Given the description of an element on the screen output the (x, y) to click on. 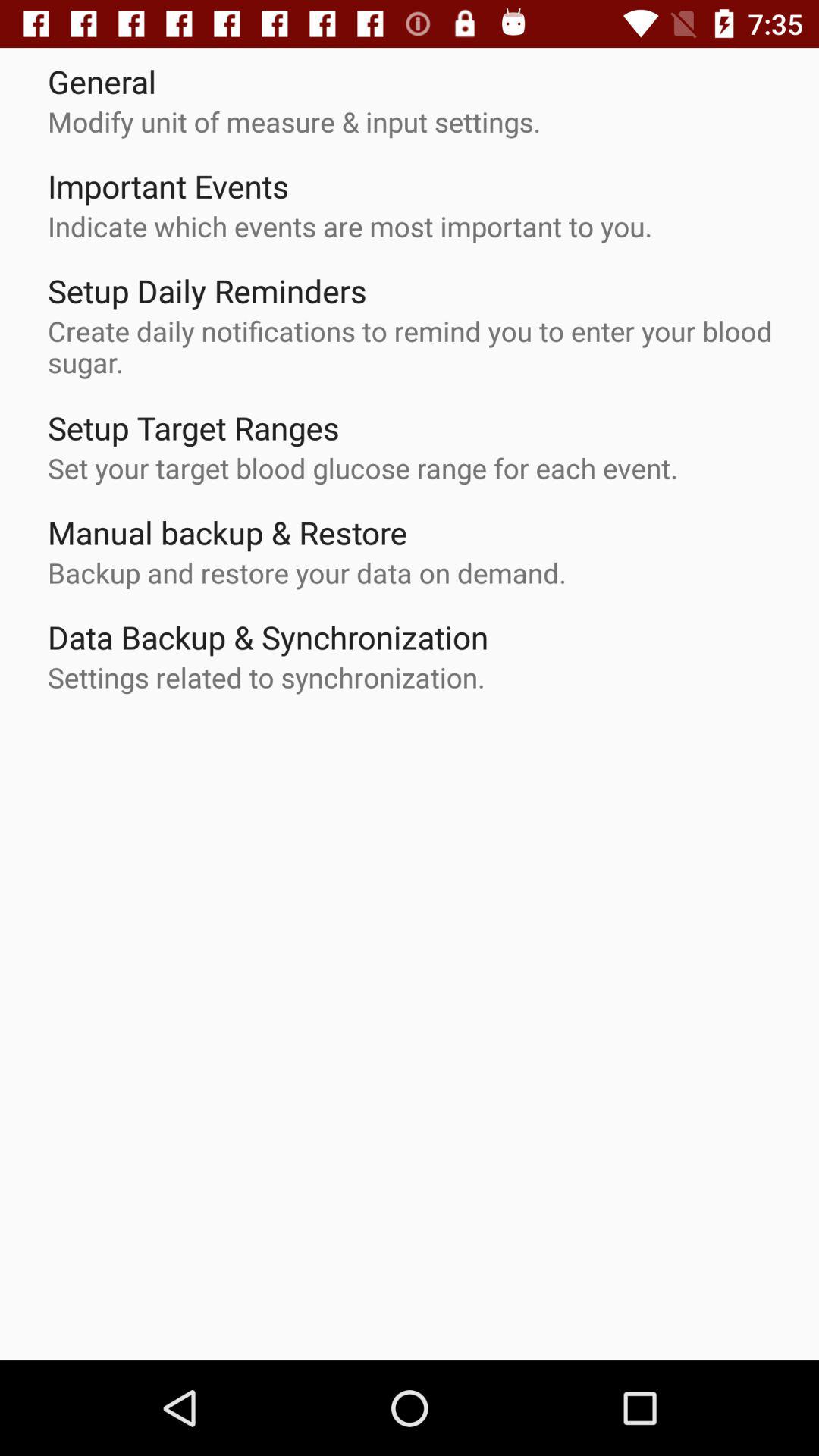
tap the app above the manual backup & restore (362, 467)
